Given the description of an element on the screen output the (x, y) to click on. 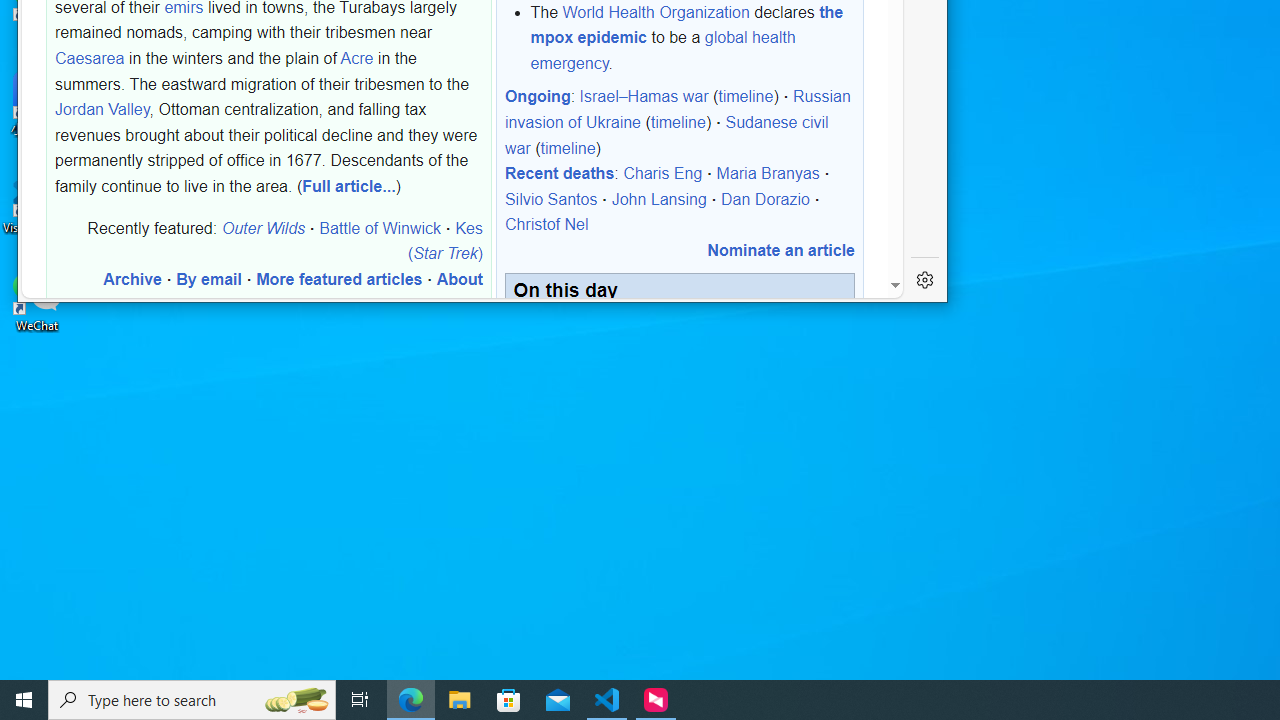
Microsoft Edge - 1 running window (411, 699)
Task View (359, 699)
Type here to search (191, 699)
Microsoft Store (509, 699)
File Explorer (460, 699)
Start (24, 699)
Search highlights icon opens search home window (295, 699)
Visual Studio Code - 1 running window (607, 699)
